Given the description of an element on the screen output the (x, y) to click on. 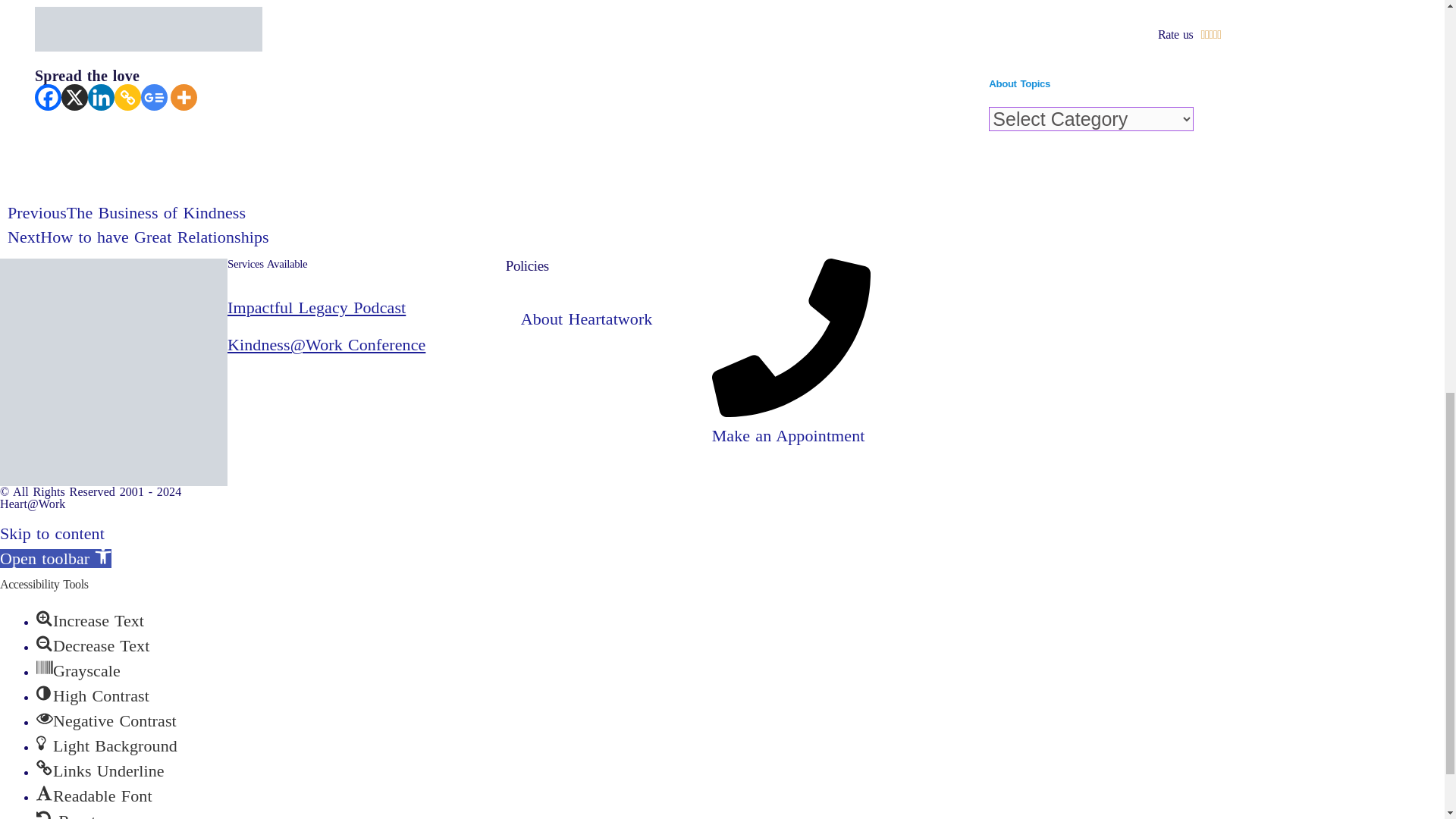
Accessibility Tools (56, 558)
Linkedin (101, 97)
Decrease Text (44, 642)
X (74, 97)
Copy Link (128, 97)
Light Background (44, 742)
High Contrast (44, 692)
Facebook (47, 97)
More (183, 97)
Google News (154, 97)
